Given the description of an element on the screen output the (x, y) to click on. 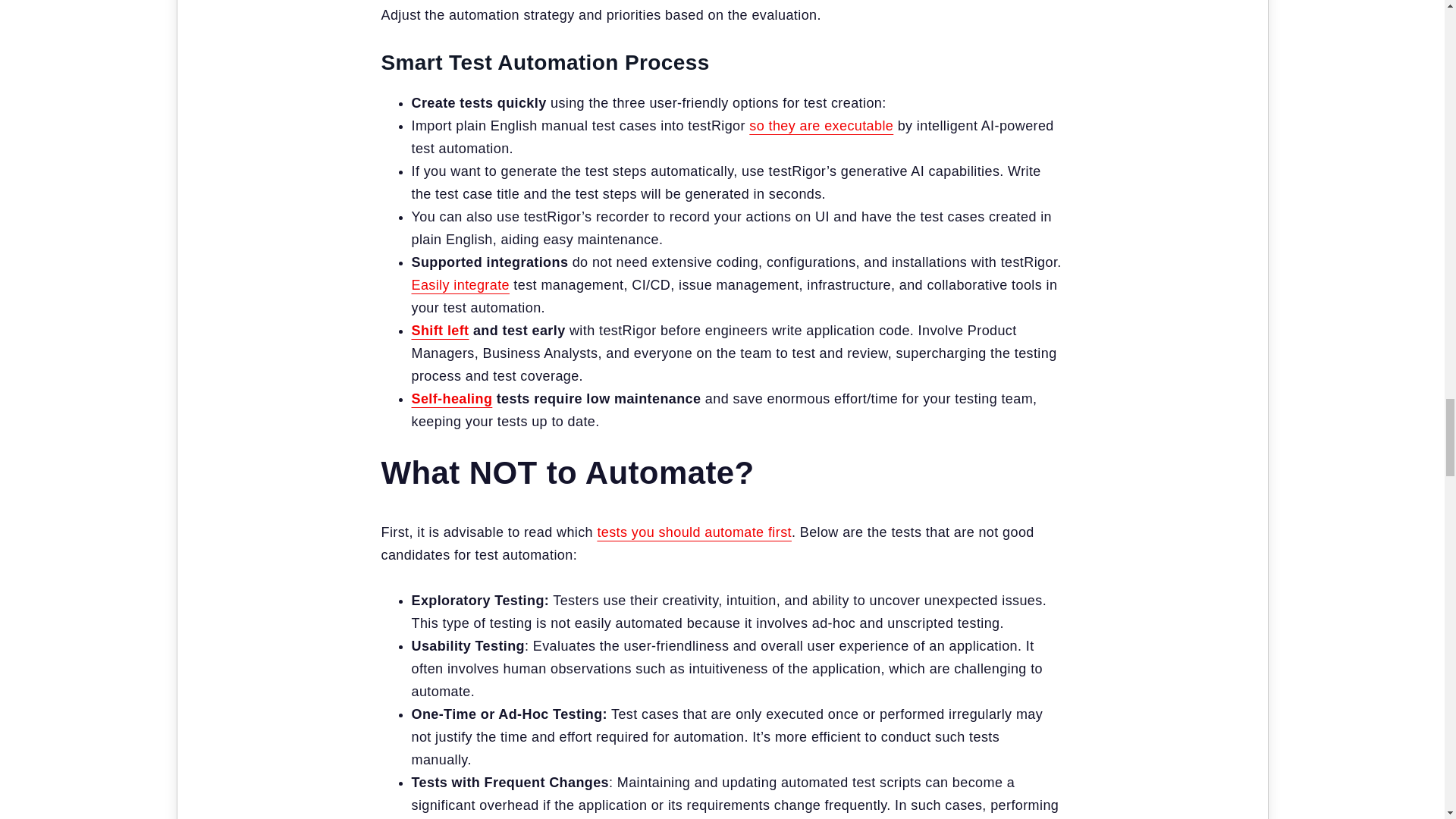
testRigor Integrations (459, 284)
Which Tests Should I Automate First? (694, 531)
Shift Left Testing (439, 330)
Can testRigor run my manual test case? (821, 125)
Self-Healing Tests (451, 398)
